Given the description of an element on the screen output the (x, y) to click on. 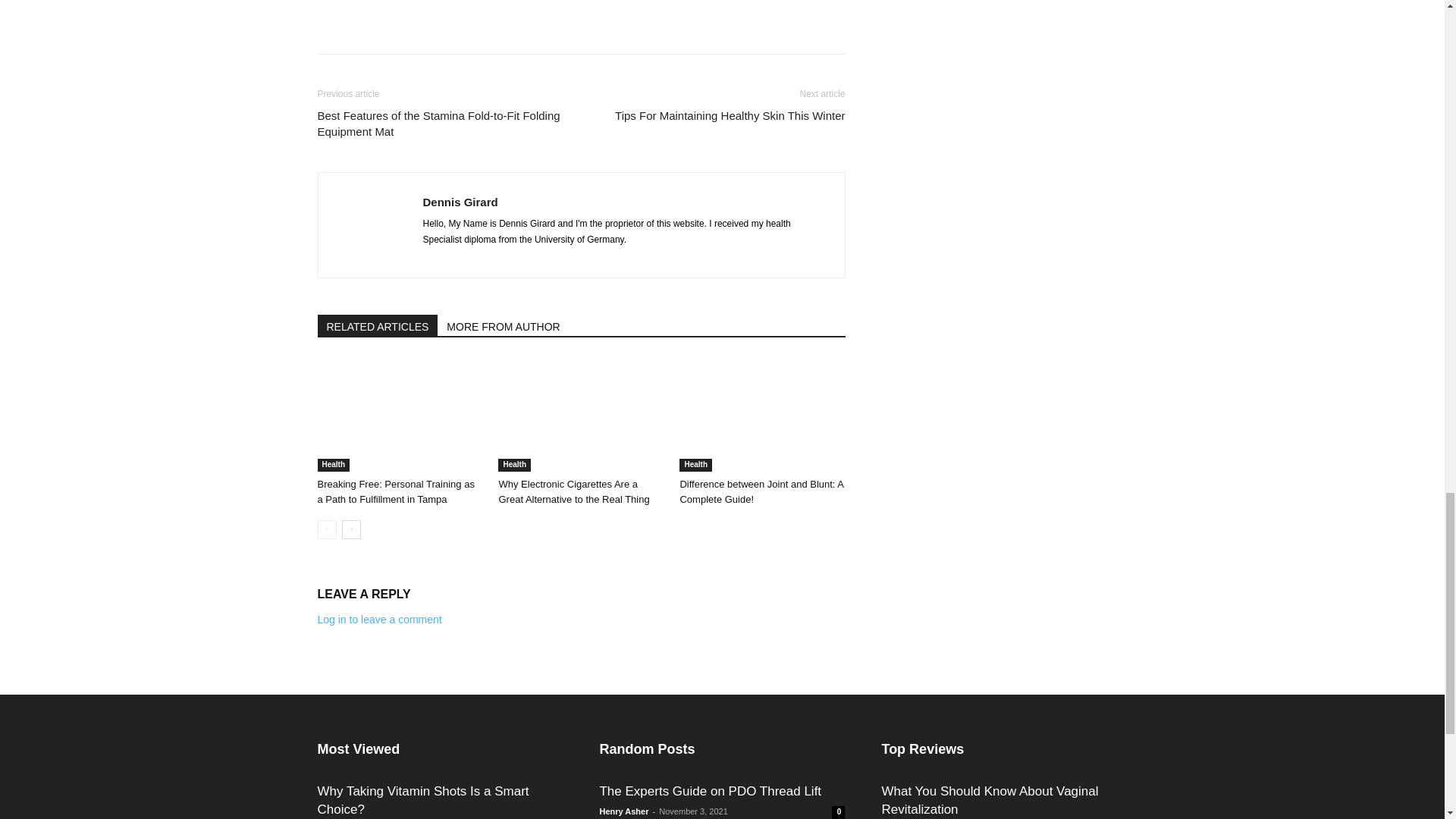
Difference between Joint and Blunt: A Complete Guide! (761, 414)
